Given the description of an element on the screen output the (x, y) to click on. 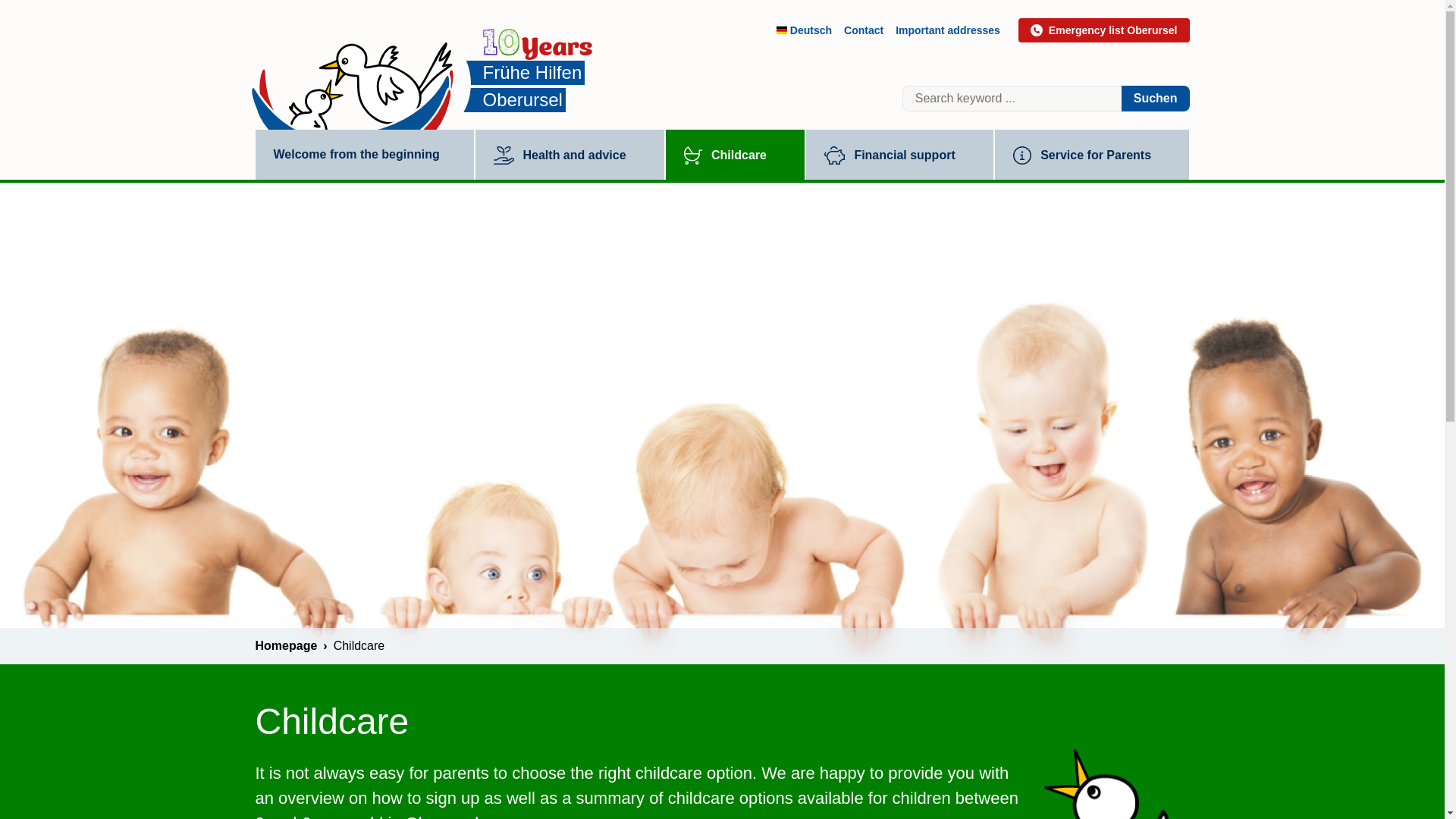
Emergency list Oberursel (1103, 30)
Service for Parents (1091, 154)
Childcare (735, 154)
Health and advice (568, 154)
Financial support (899, 154)
Important addresses (947, 30)
Suchen (1155, 98)
Homepage (290, 645)
Contact (863, 30)
Welcome from the beginning (363, 153)
Deutsch (803, 30)
